Given the description of an element on the screen output the (x, y) to click on. 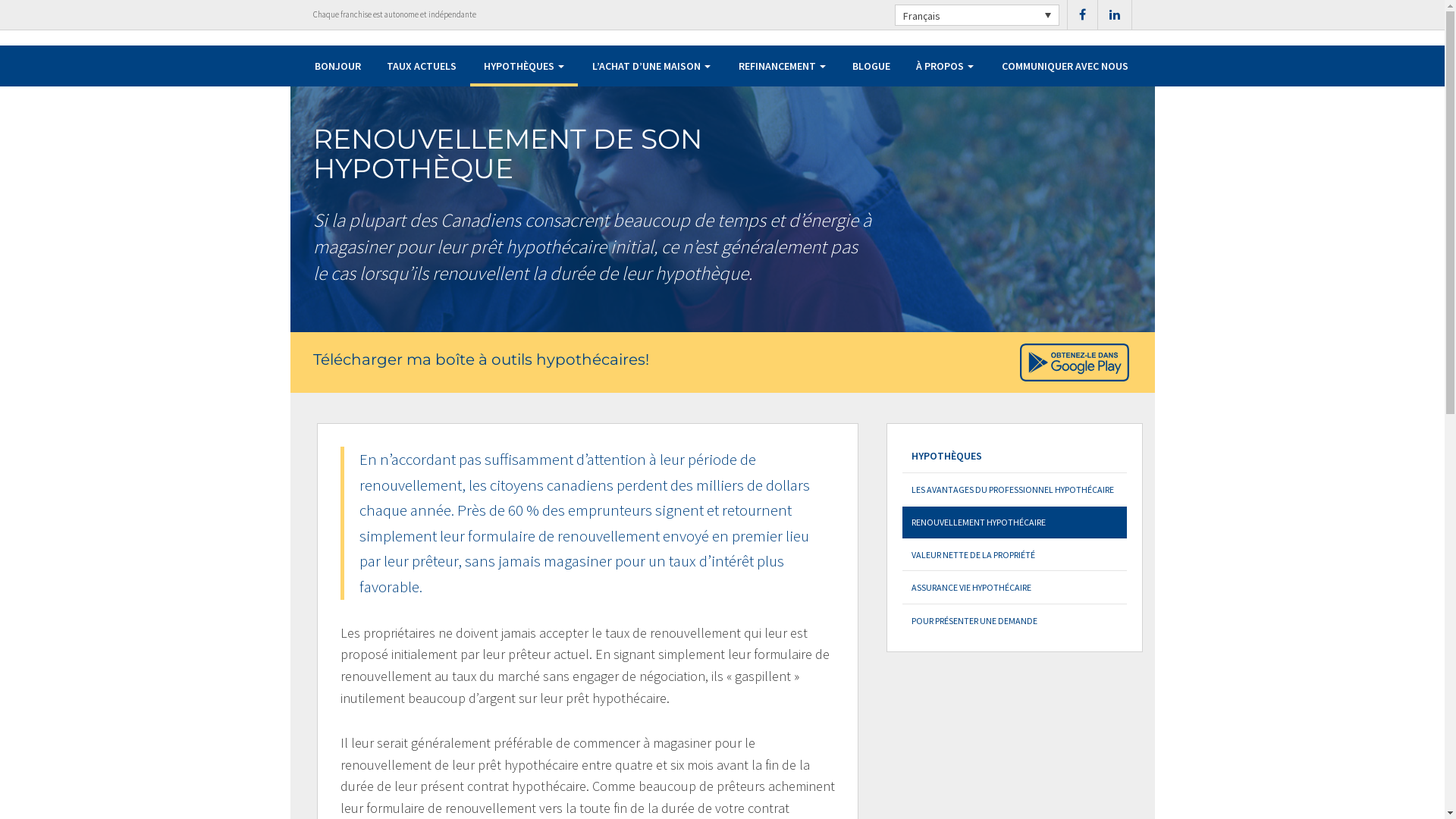
COMMUNIQUER AVEC NOUS Element type: text (1065, 65)
TAUX ACTUELS Element type: text (421, 65)
BONJOUR Element type: text (337, 65)
REFINANCEMENT Element type: text (781, 65)
BLOGUE Element type: text (871, 65)
